Given the description of an element on the screen output the (x, y) to click on. 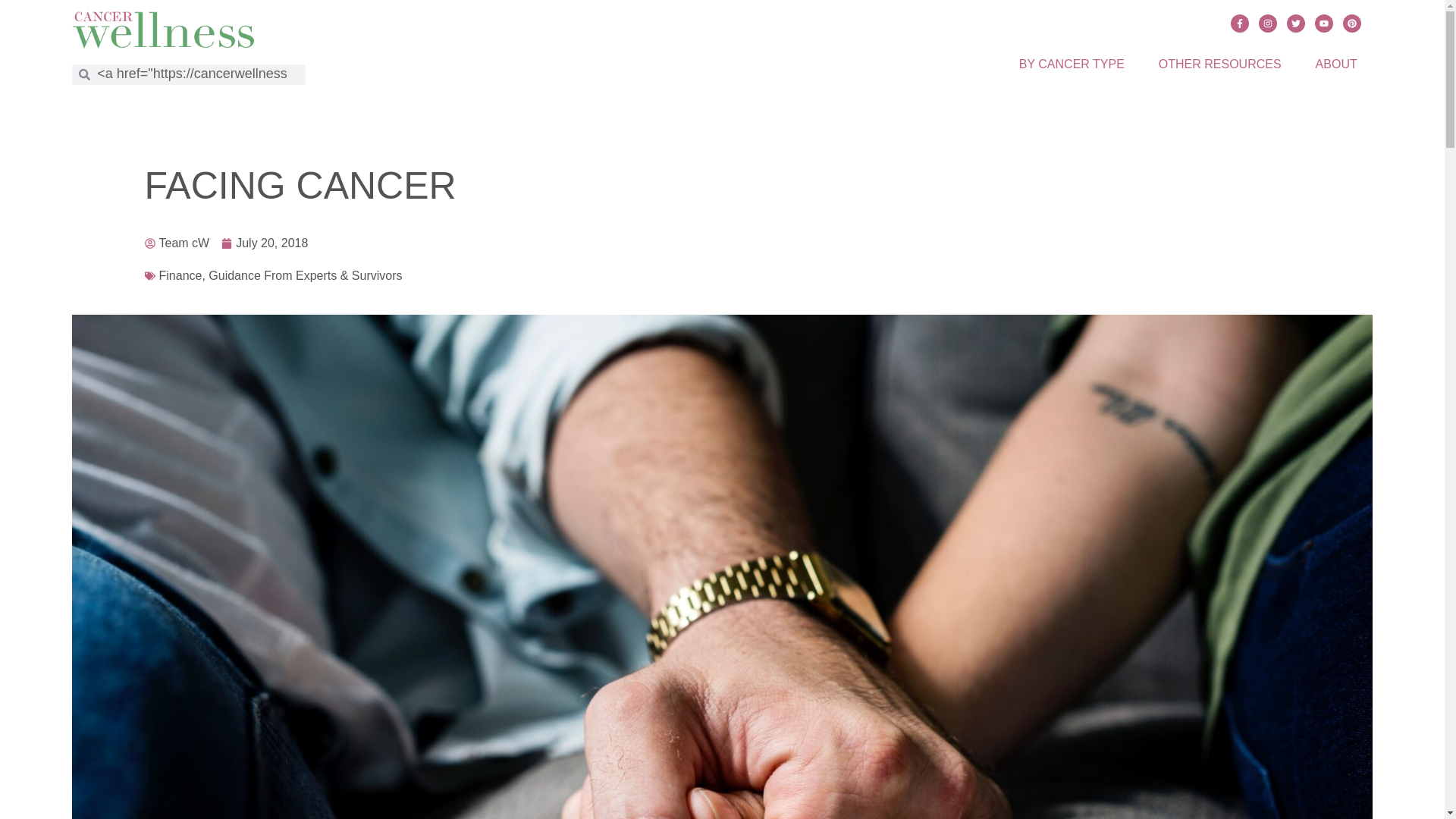
BY CANCER TYPE (1072, 63)
ABOUT (1336, 63)
OTHER RESOURCES (1219, 63)
